Given the description of an element on the screen output the (x, y) to click on. 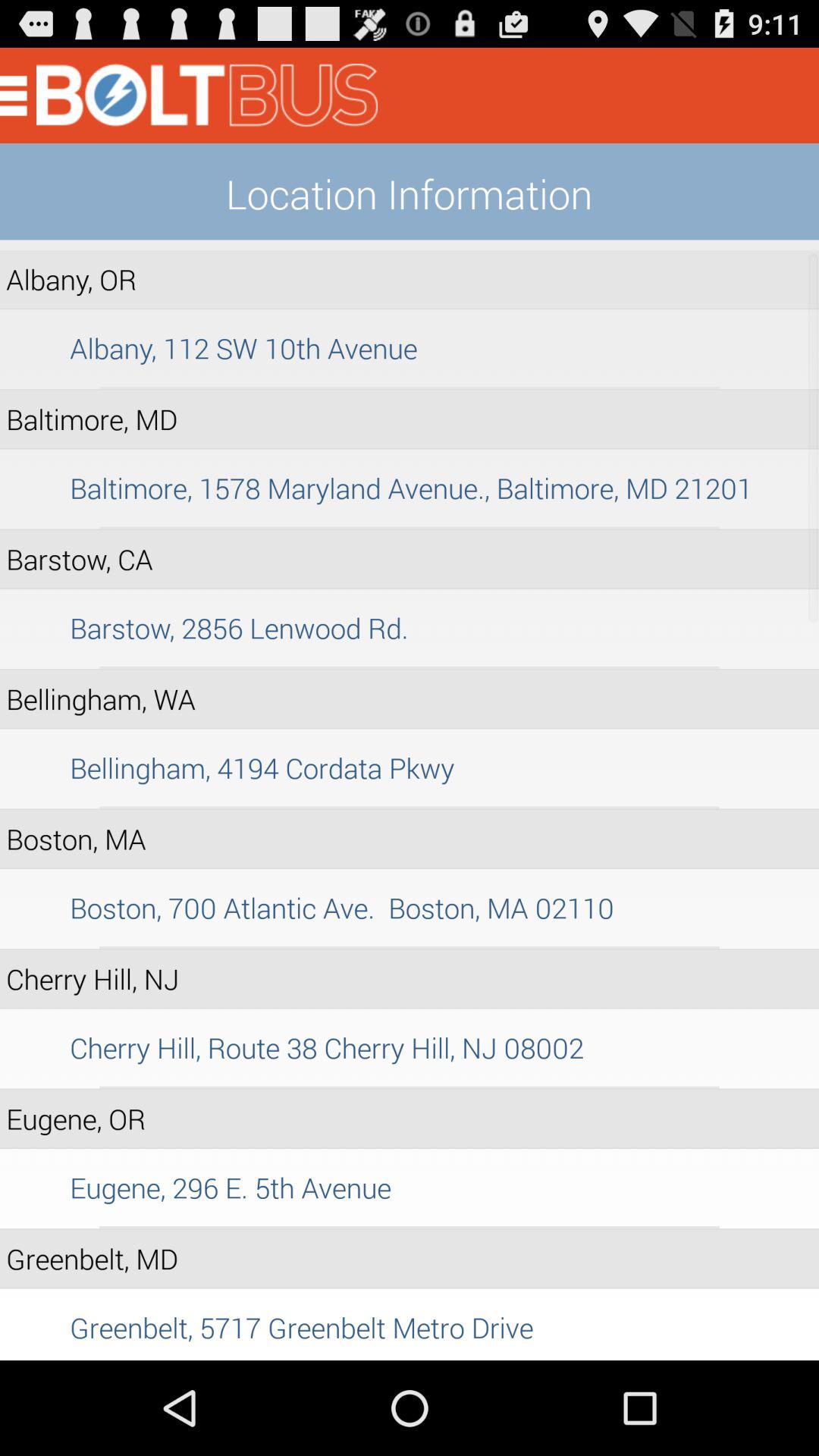
choose item above the barstow, ca item (409, 527)
